Given the description of an element on the screen output the (x, y) to click on. 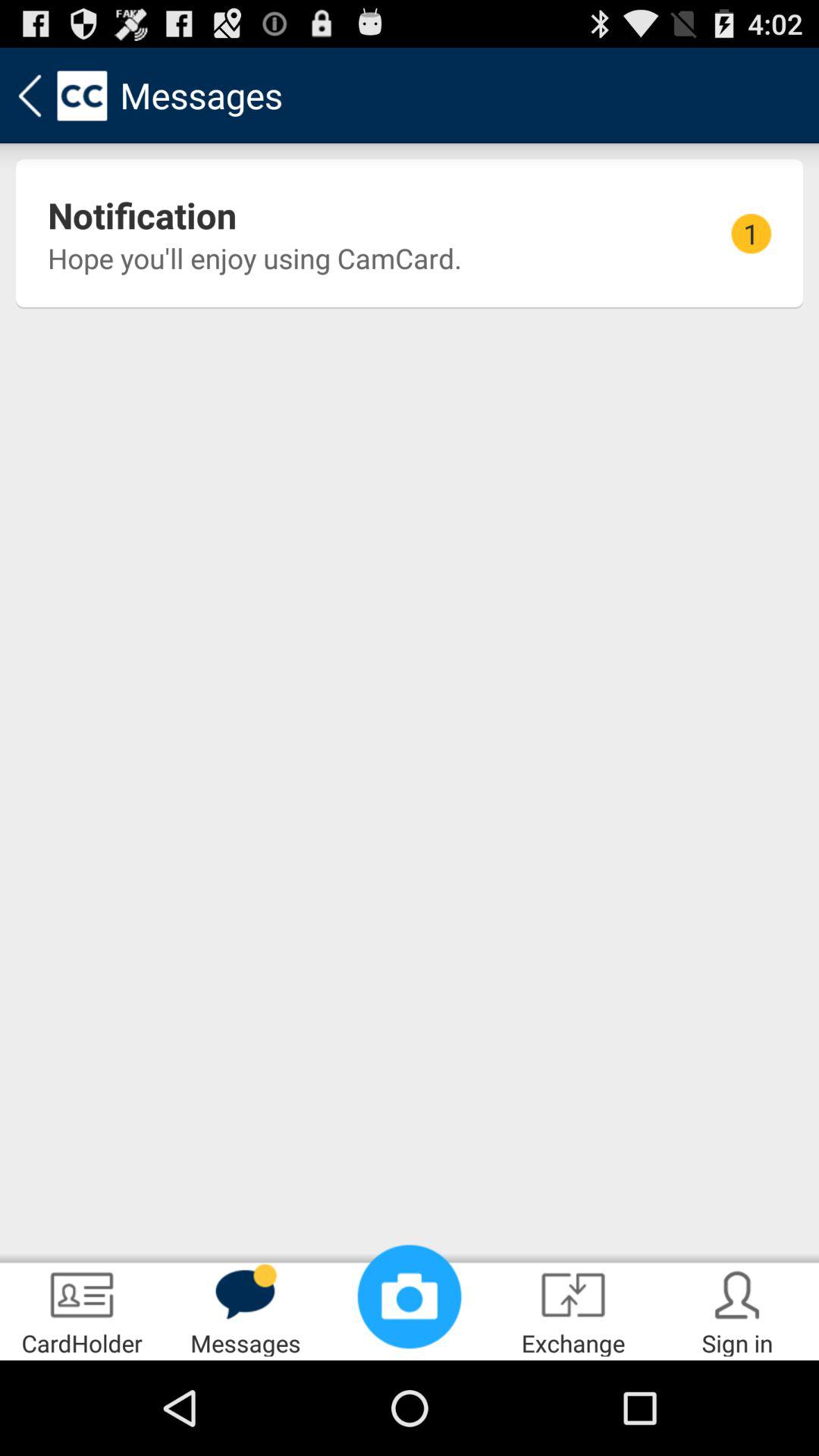
open cardholder (81, 1309)
